Given the description of an element on the screen output the (x, y) to click on. 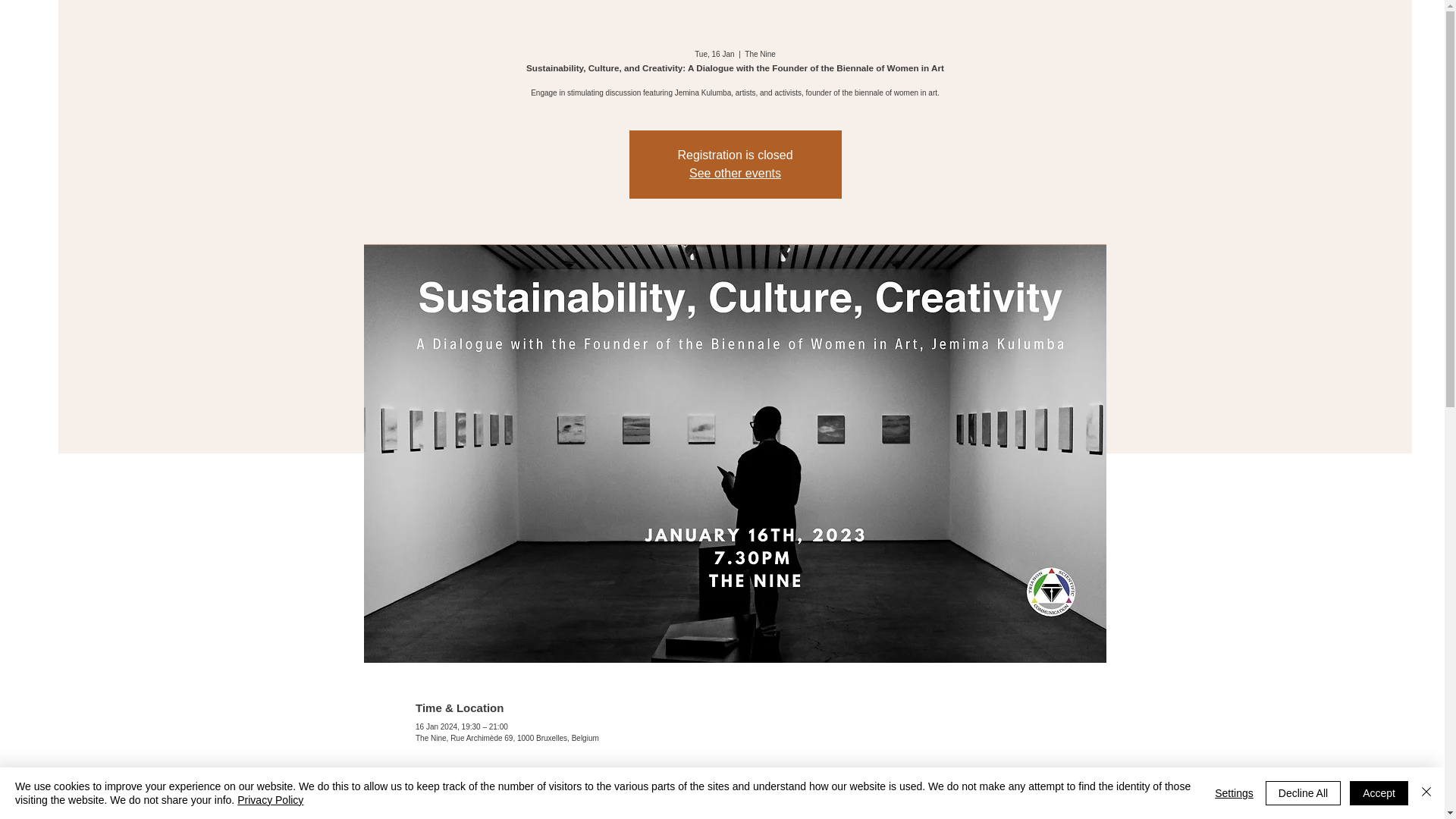
Accept (1378, 793)
See other events (734, 173)
Decline All (1302, 793)
Privacy Policy (269, 799)
